Given the description of an element on the screen output the (x, y) to click on. 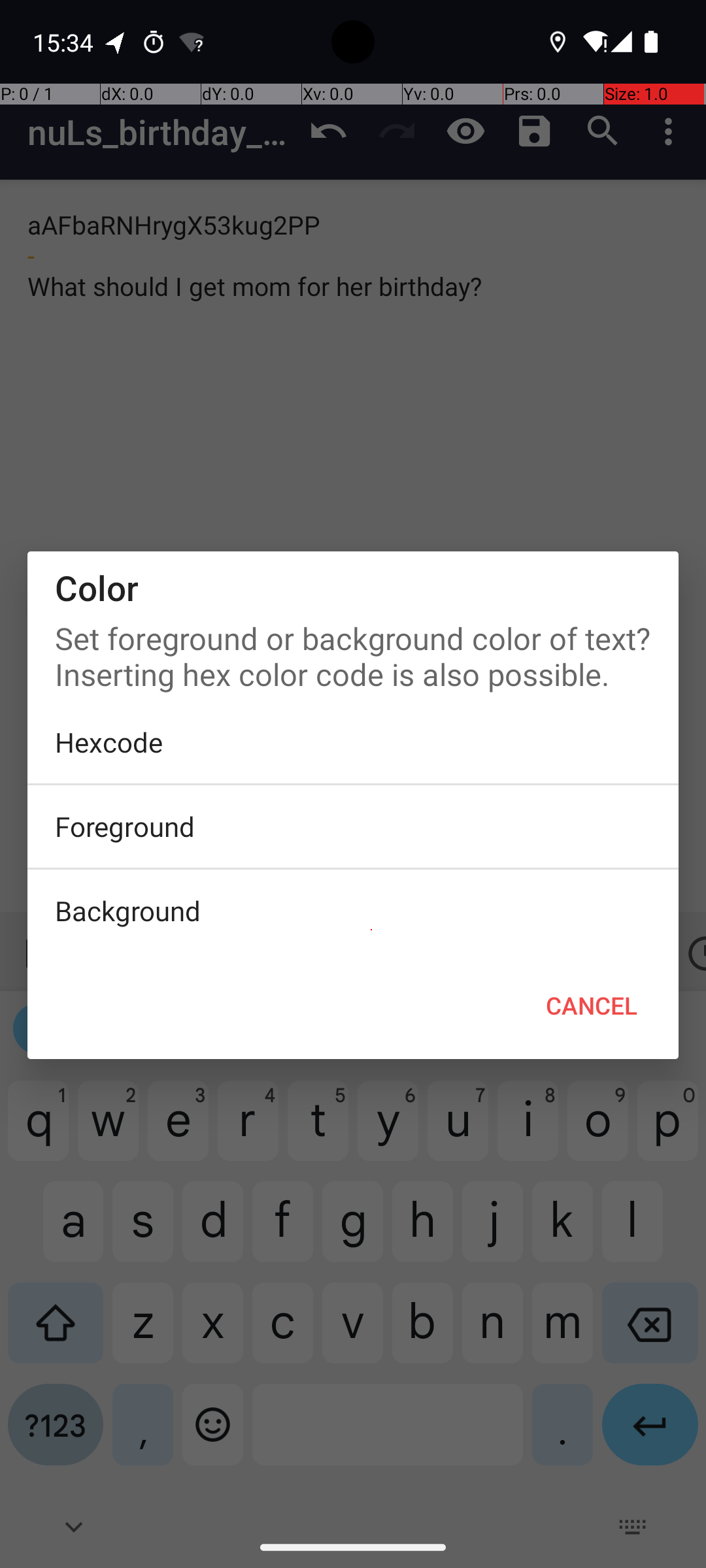
Set foreground or background color of text? Inserting hex color code is also possible. Element type: android.widget.TextView (352, 652)
Hexcode Element type: android.widget.TextView (352, 742)
Foreground Element type: android.widget.TextView (352, 826)
Background Element type: android.widget.TextView (352, 910)
